Given the description of an element on the screen output the (x, y) to click on. 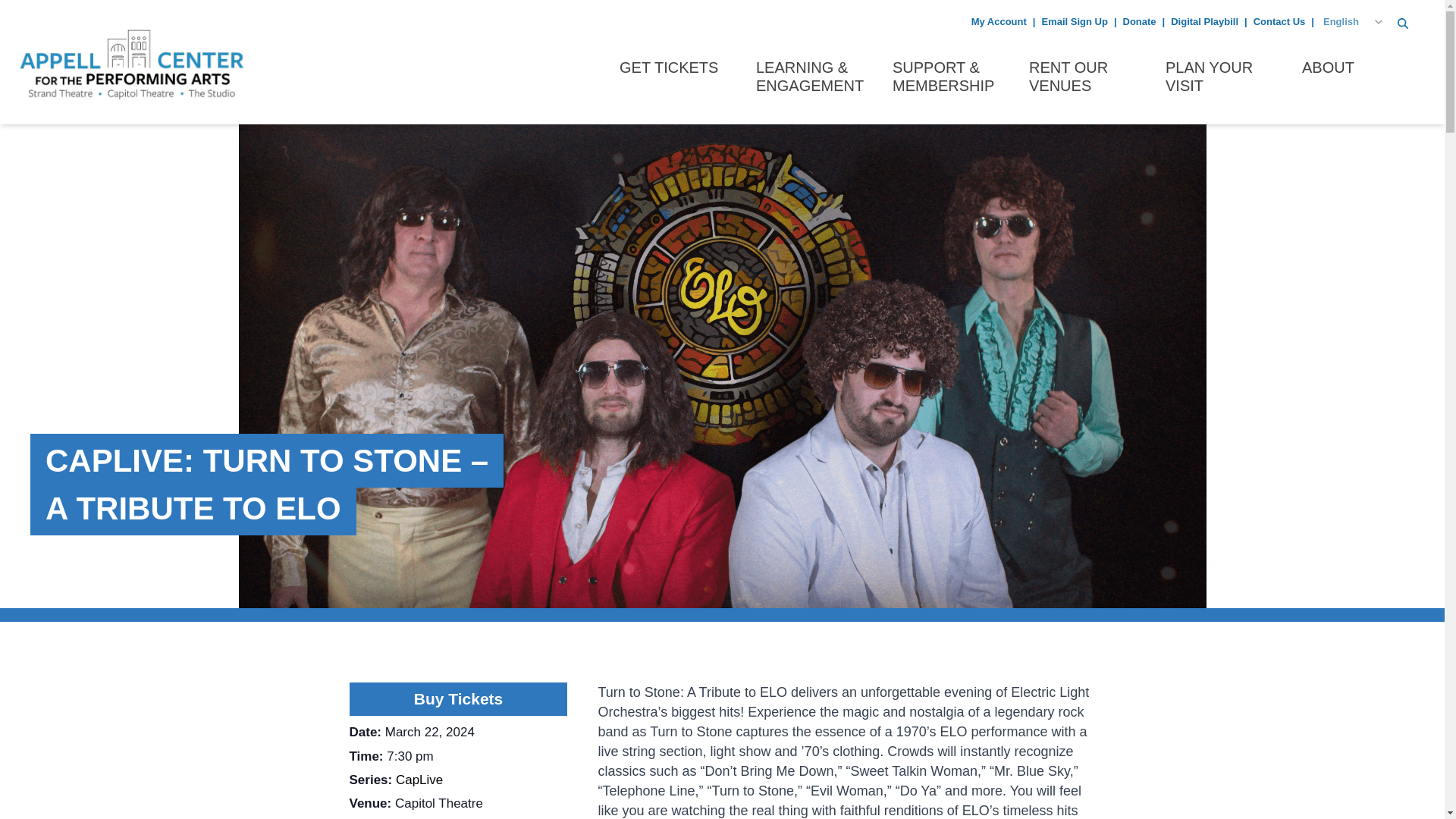
My Account (998, 20)
2024-03-22 (429, 731)
Donate (1139, 20)
Digital Playbill (1204, 20)
ABOUT (1361, 78)
Email Sign Up (1073, 20)
GET TICKETS (679, 78)
RENT OUR VENUES (1088, 78)
CapLive (419, 780)
2024-03-22 (409, 756)
PLAN YOUR VISIT (1225, 78)
Contact Us (1279, 20)
